Given the description of an element on the screen output the (x, y) to click on. 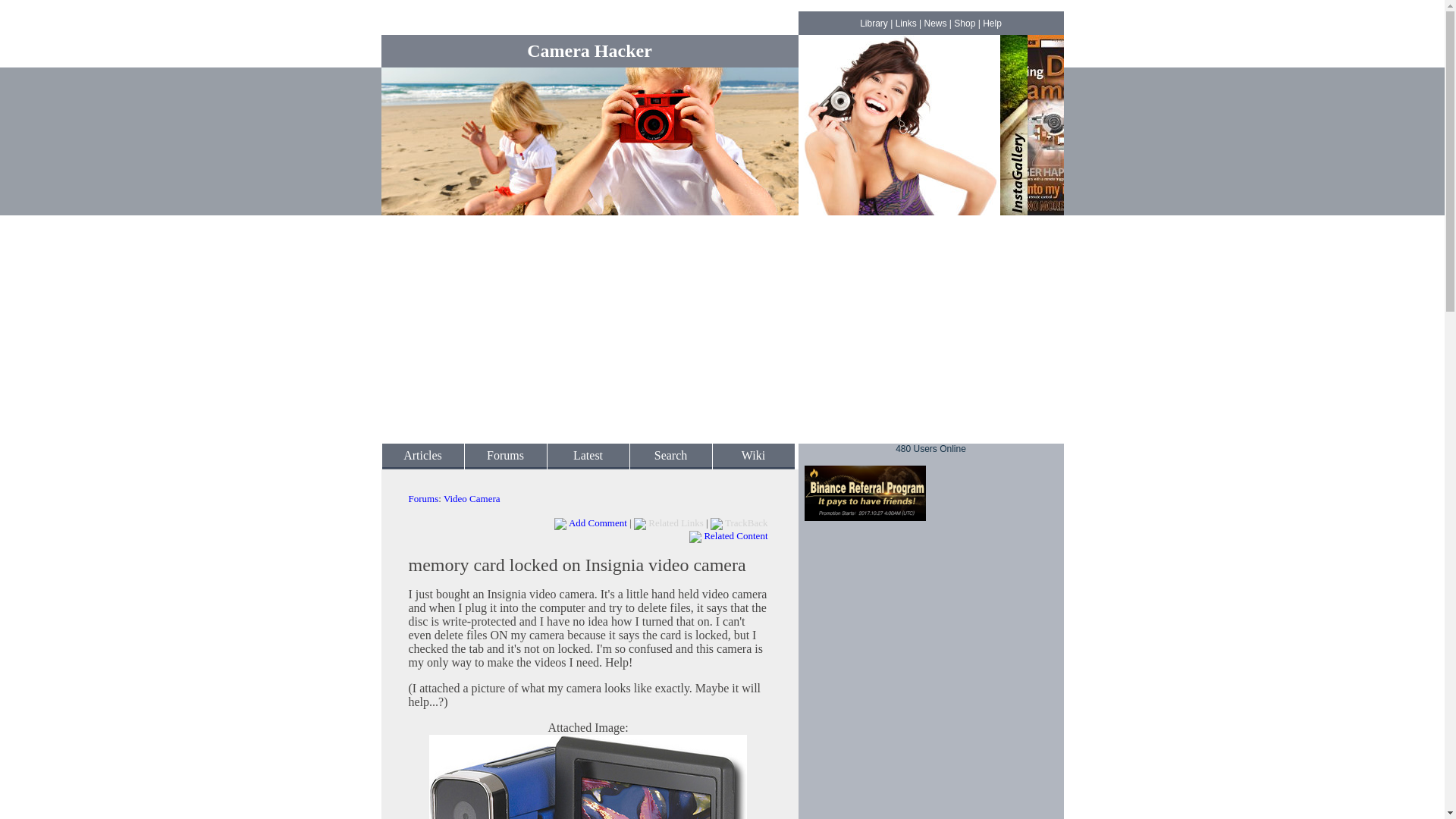
Shop (964, 23)
Forums (505, 454)
Help (991, 23)
Wiki (753, 454)
Search (670, 454)
Video Camera (472, 498)
Links (906, 23)
Articles (422, 454)
Library (874, 23)
Camera Hacker (589, 50)
Latest (587, 454)
News (934, 23)
Forums (422, 498)
Add Comment (598, 522)
